Given the description of an element on the screen output the (x, y) to click on. 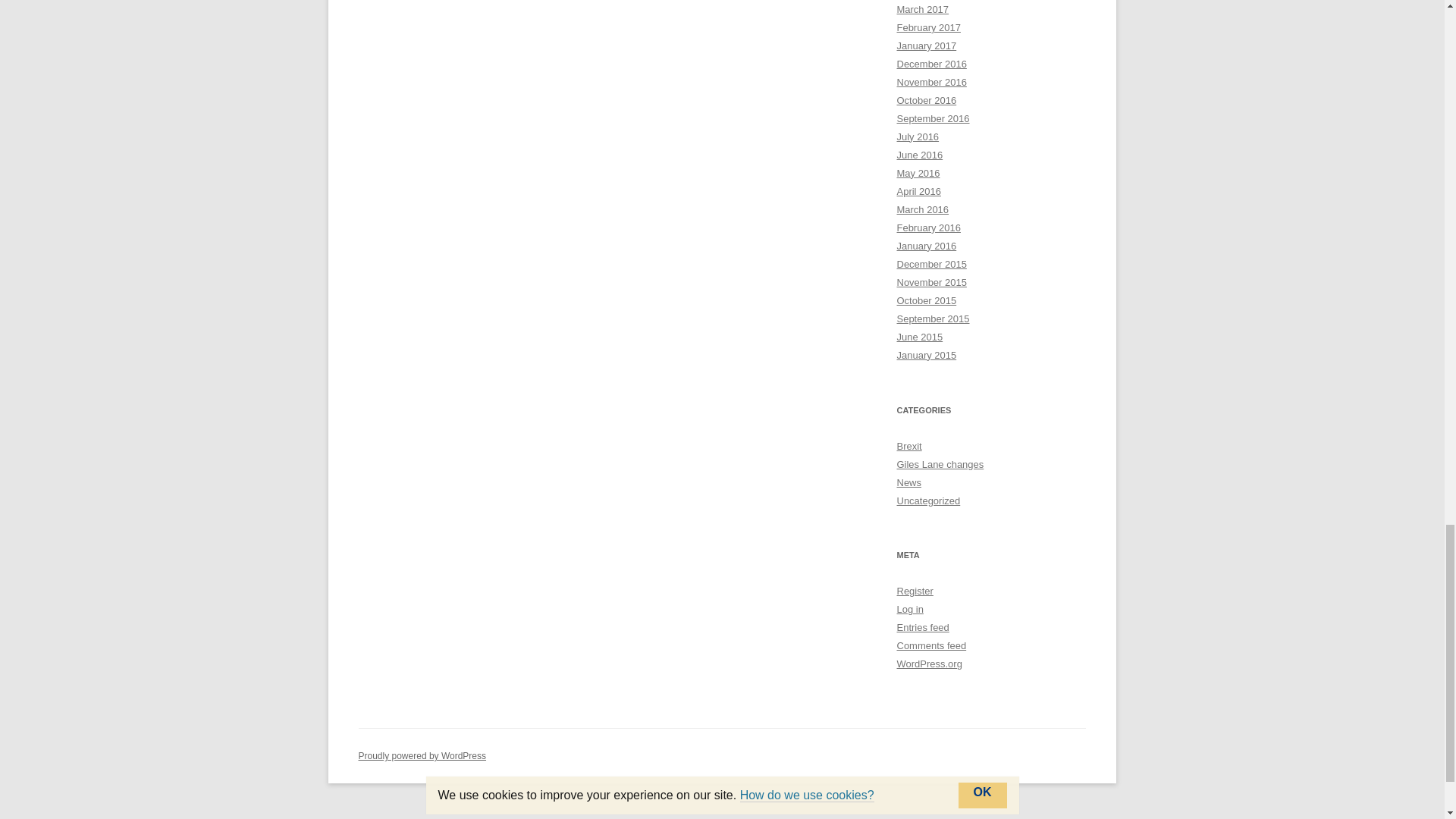
Changes to Giles Lane car park (940, 464)
Semantic Personal Publishing Platform (422, 756)
